Given the description of an element on the screen output the (x, y) to click on. 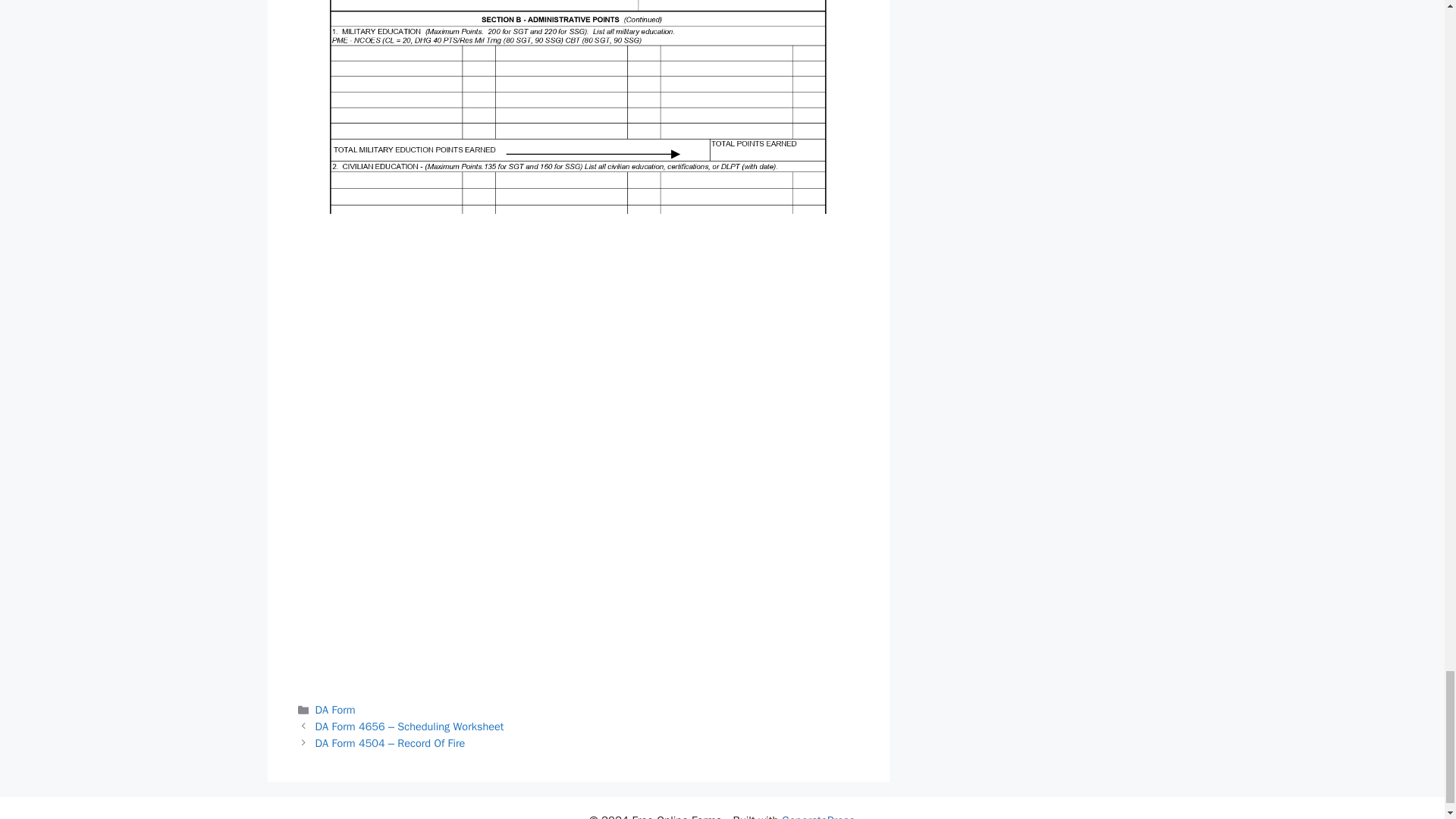
DA Form (335, 709)
GeneratePress (818, 816)
